Given the description of an element on the screen output the (x, y) to click on. 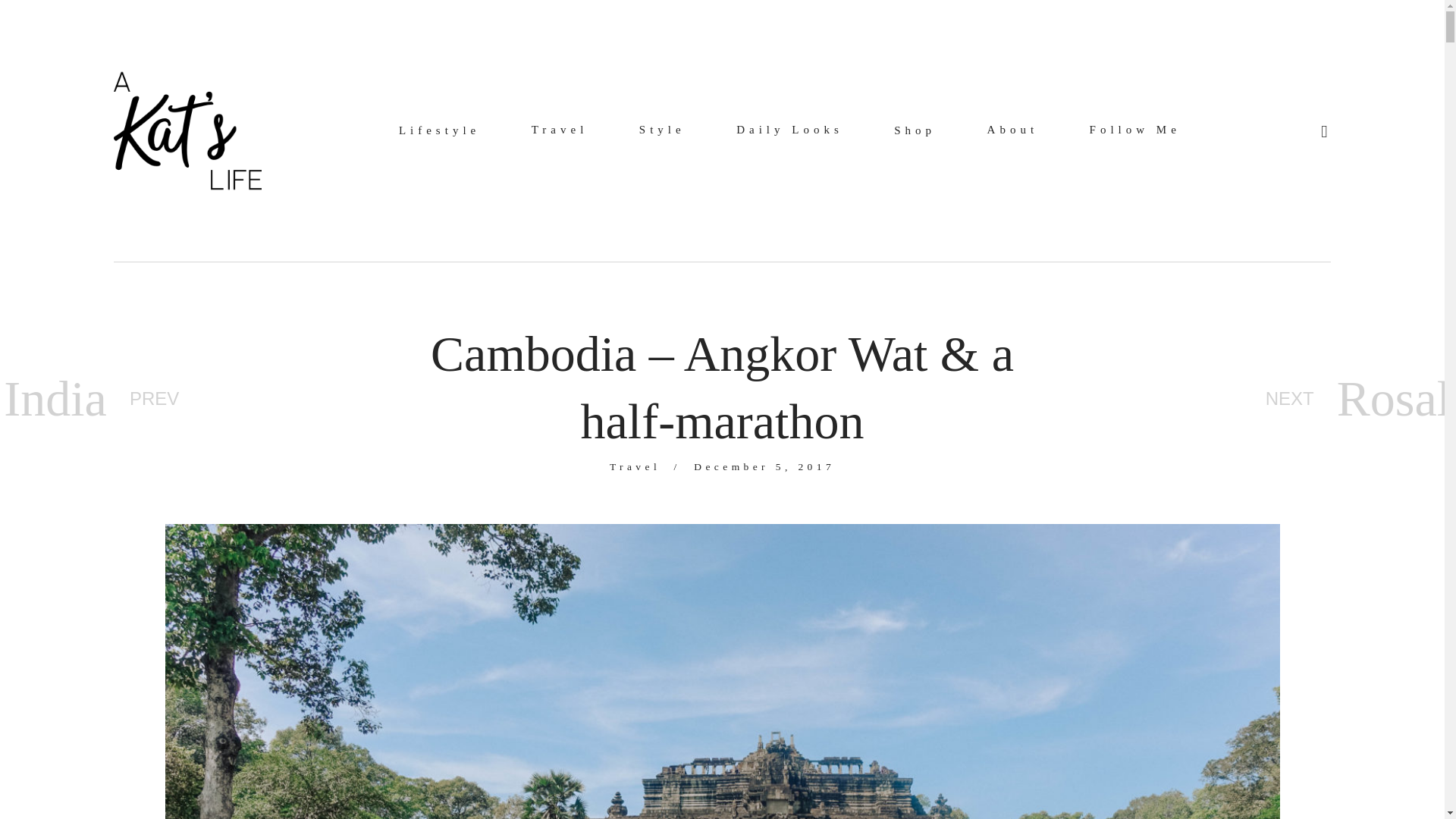
About (1013, 130)
Style (662, 130)
Travel (635, 466)
India (55, 398)
Travel (559, 130)
Shop (914, 130)
Lifestyle (439, 130)
Follow Me (1134, 130)
Daily Looks (789, 130)
